Given the description of an element on the screen output the (x, y) to click on. 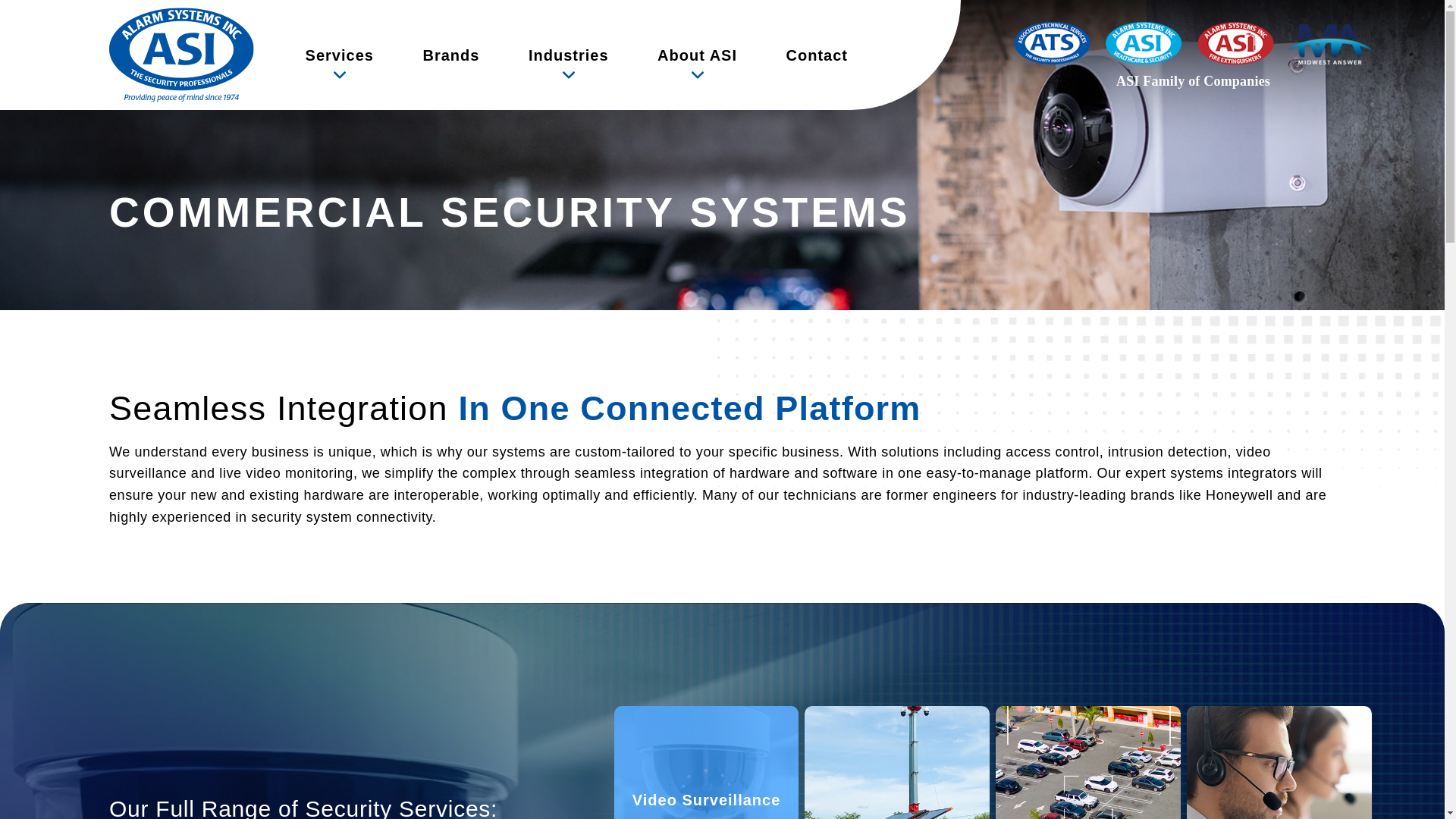
Our Commercial Services (339, 55)
Services (339, 55)
Industries (568, 55)
About ASI (696, 55)
Brands (450, 55)
Alarm Systems, Inc. The Security Professionals (181, 54)
